Given the description of an element on the screen output the (x, y) to click on. 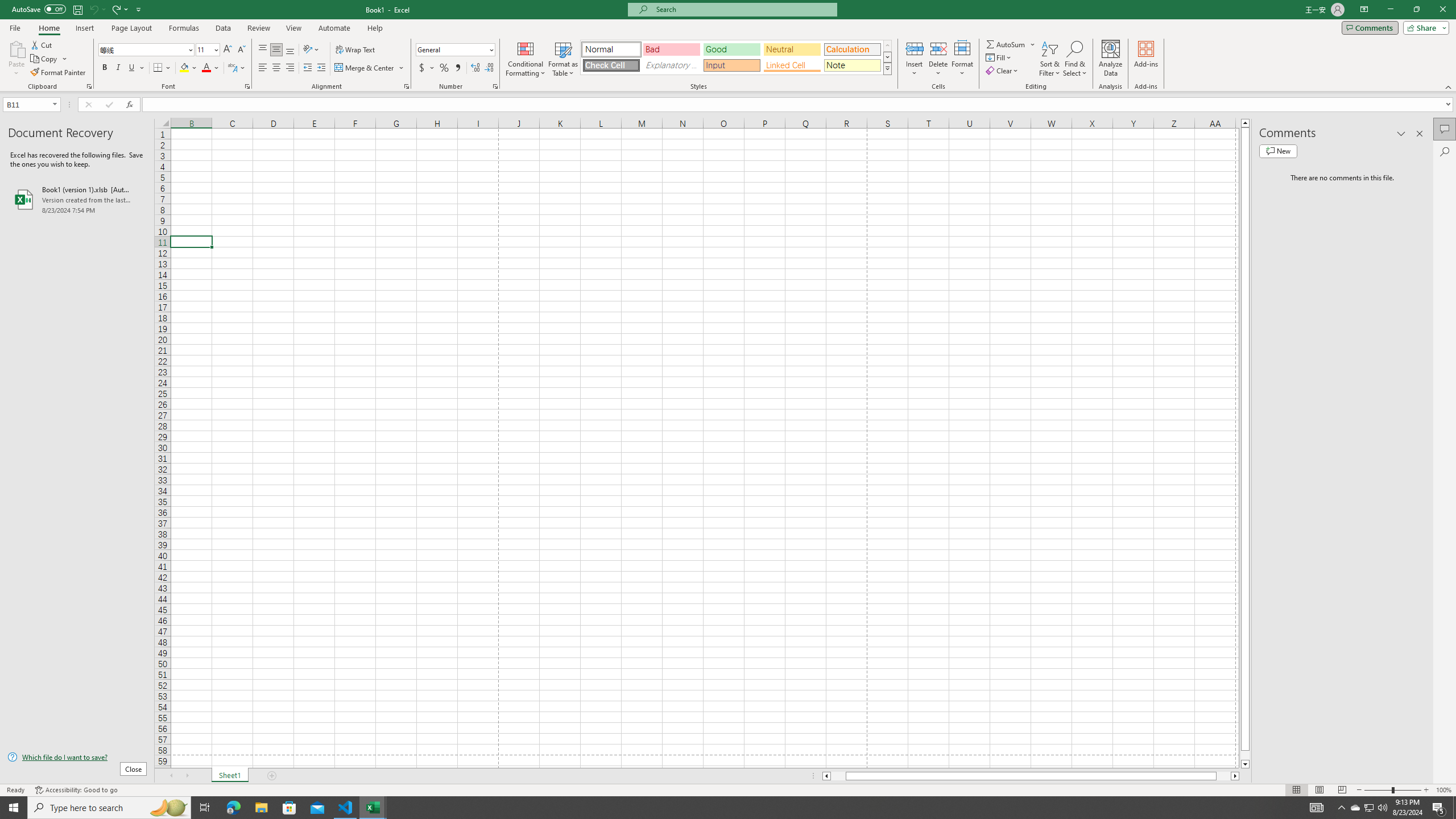
Formula Bar (799, 104)
Increase Font Size (227, 49)
Microsoft search (742, 9)
Show Phonetic Field (236, 67)
Class: NetUIImage (887, 68)
Format Cell Alignment (405, 85)
Increase Decimal (474, 67)
Bad (671, 49)
Accounting Number Format (422, 67)
Sort & Filter (1049, 58)
